Given the description of an element on the screen output the (x, y) to click on. 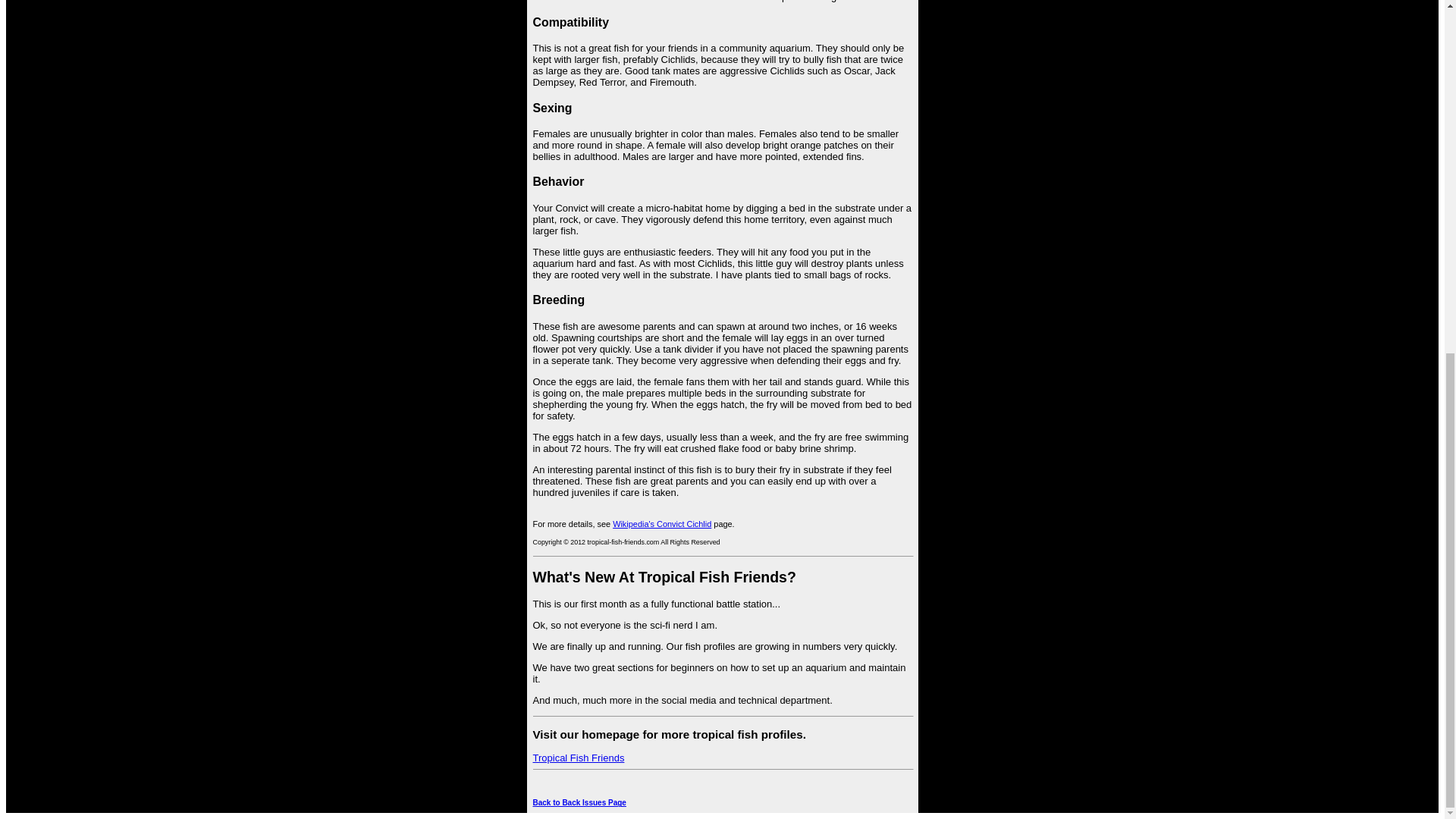
Back to Back Issues Page (579, 802)
Tropical Fish Friends (578, 757)
Wikipedia's Convict Cichlid (661, 523)
Tropical Fish Friends (578, 757)
